Given the description of an element on the screen output the (x, y) to click on. 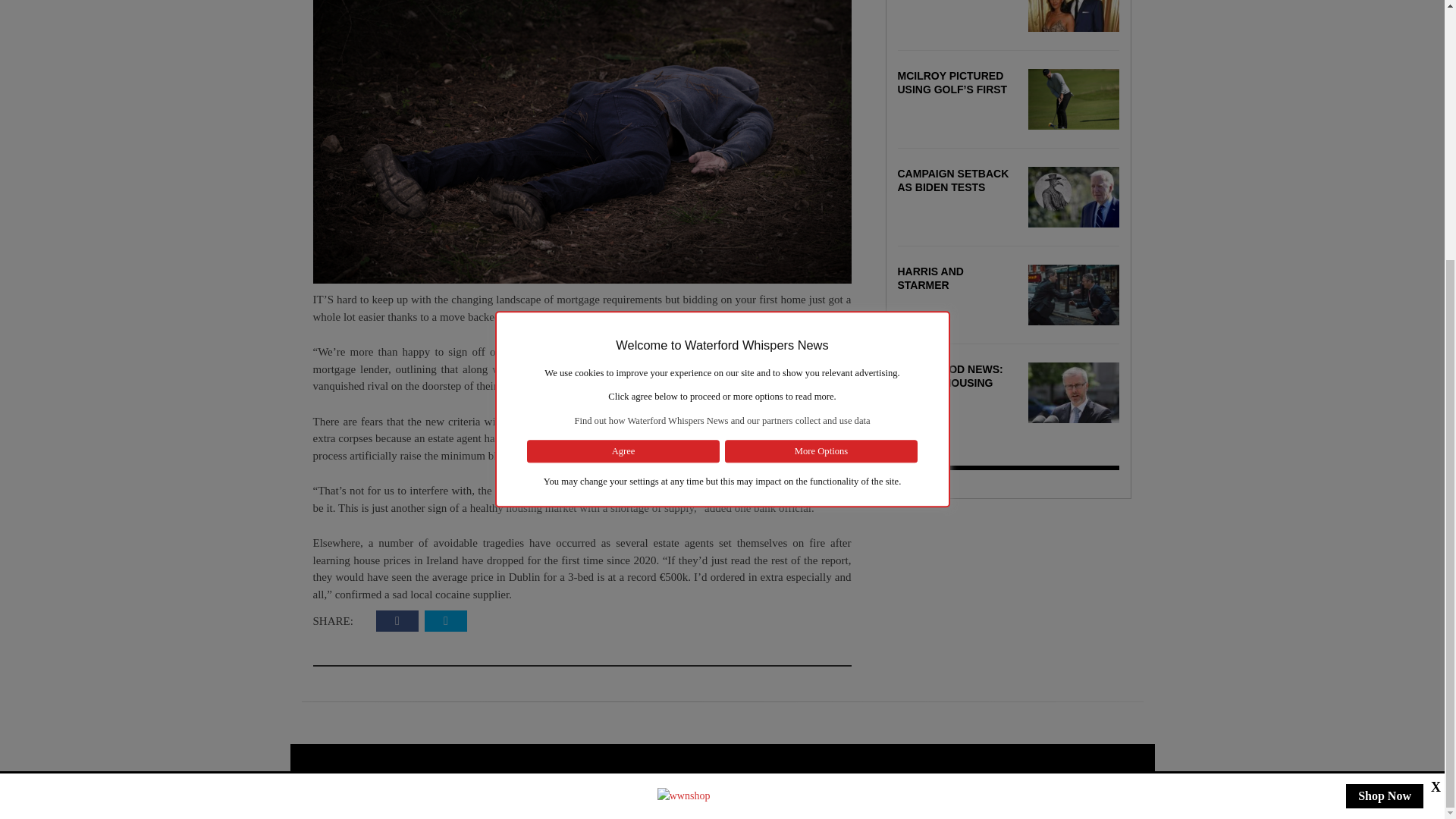
Support us on waterfordwhispers.shop (684, 423)
